Given the description of an element on the screen output the (x, y) to click on. 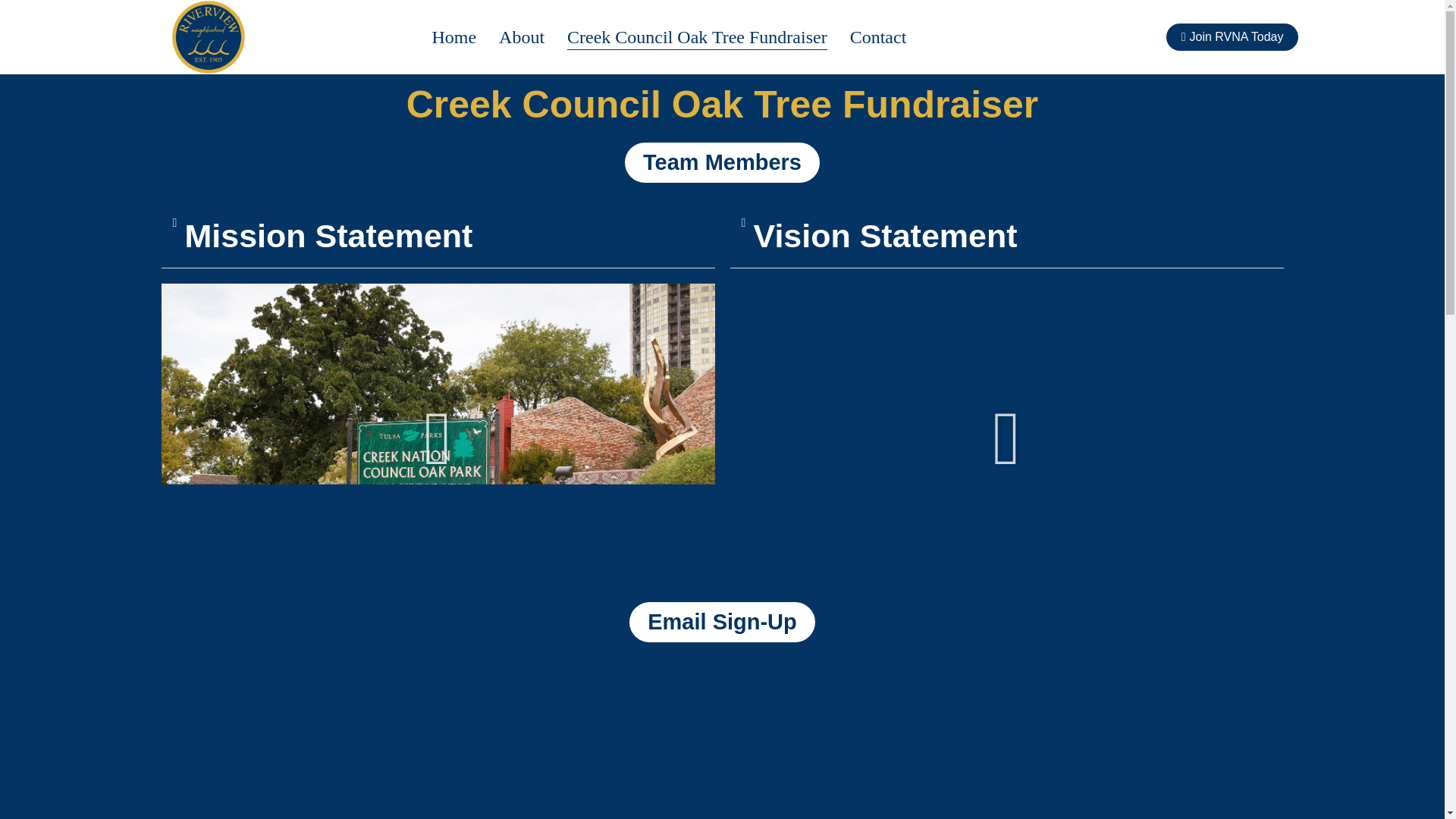
Mission Statement (328, 235)
Team Members (721, 162)
Join RVNA Today (1232, 36)
Contact (878, 36)
Creek Council Oak Tree Fundraiser (697, 36)
Email Sign-Up (721, 621)
Vision Statement (885, 235)
About (521, 36)
Home (453, 36)
